Given the description of an element on the screen output the (x, y) to click on. 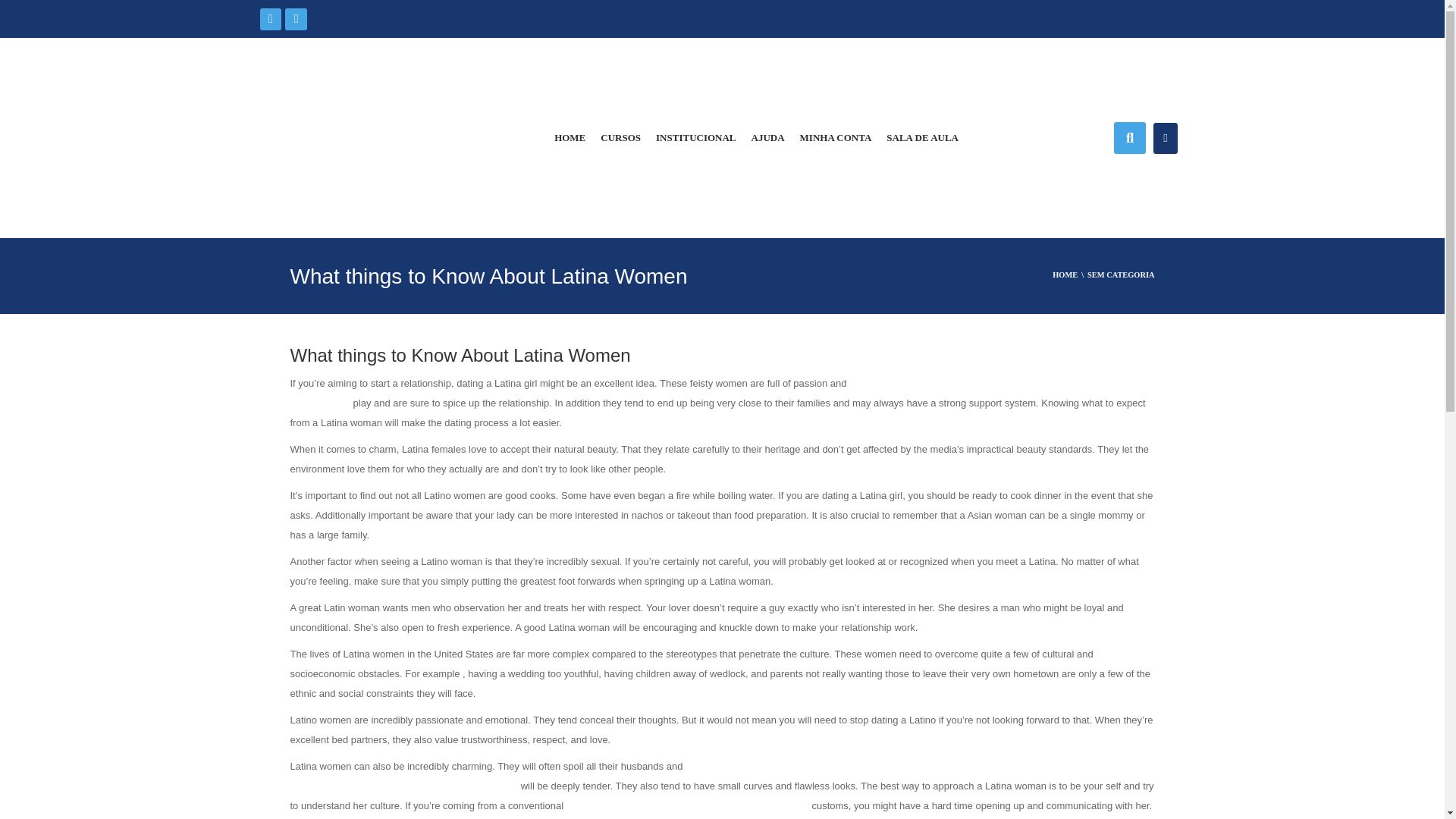
CURSOS (619, 137)
HOME (569, 137)
SALA DE AULA (922, 137)
MINHA CONTA (835, 137)
INSTITUCIONAL (695, 137)
AJUDA (767, 137)
